Given the description of an element on the screen output the (x, y) to click on. 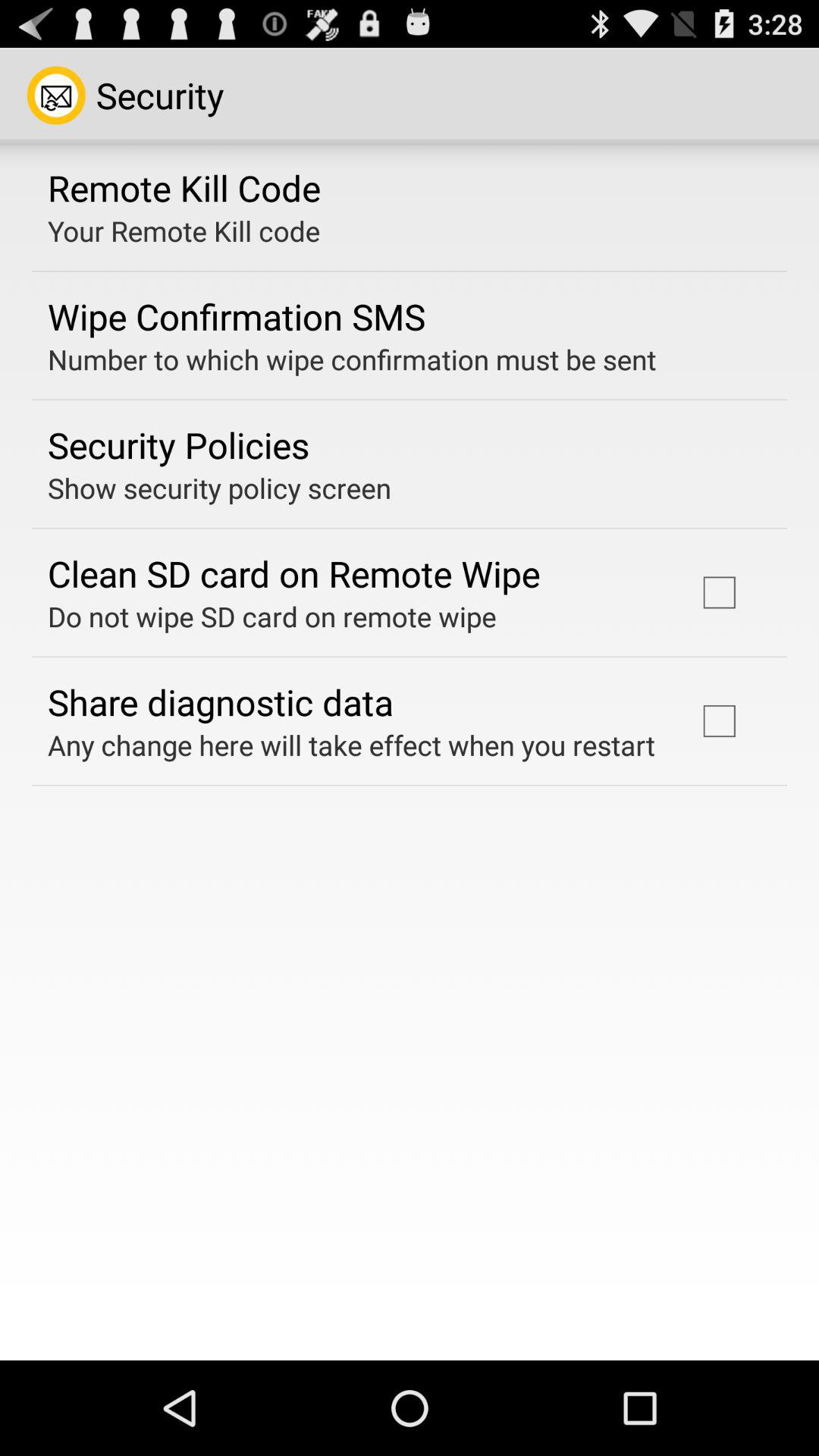
open the icon at the top (351, 359)
